Given the description of an element on the screen output the (x, y) to click on. 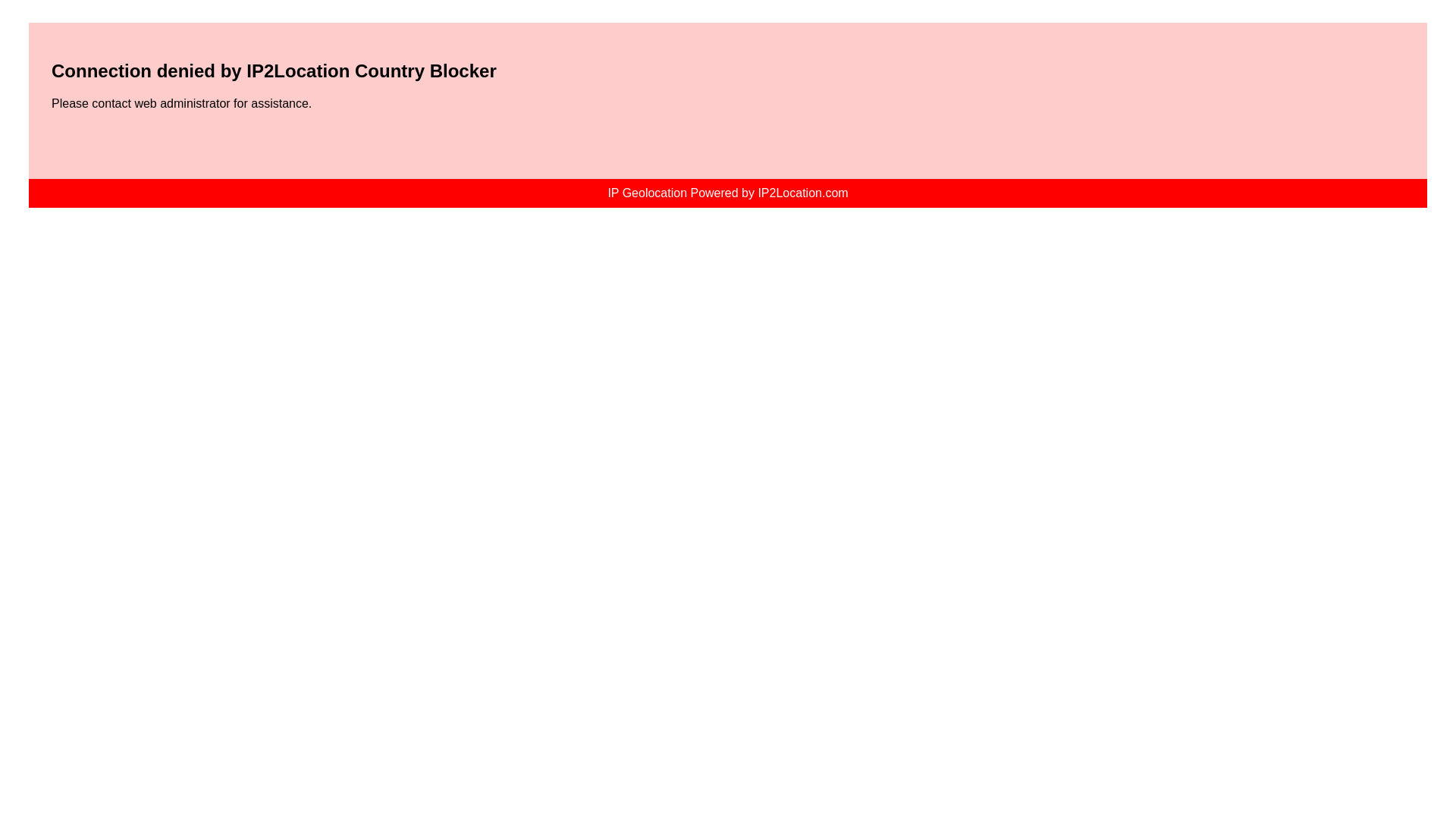
IP Geolocation Powered by IP2Location.com (727, 192)
